Given the description of an element on the screen output the (x, y) to click on. 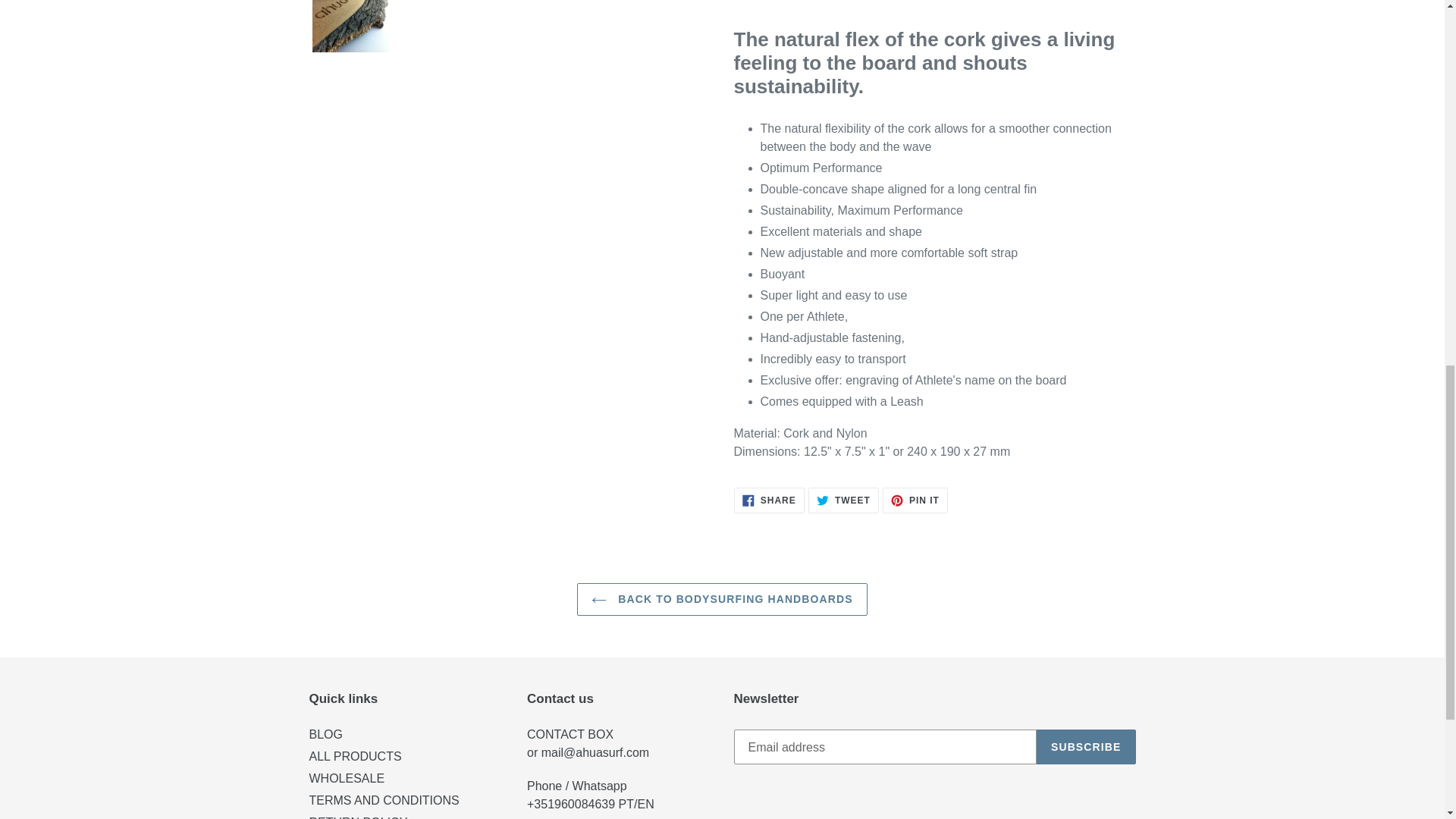
Contact us (569, 734)
